Given the description of an element on the screen output the (x, y) to click on. 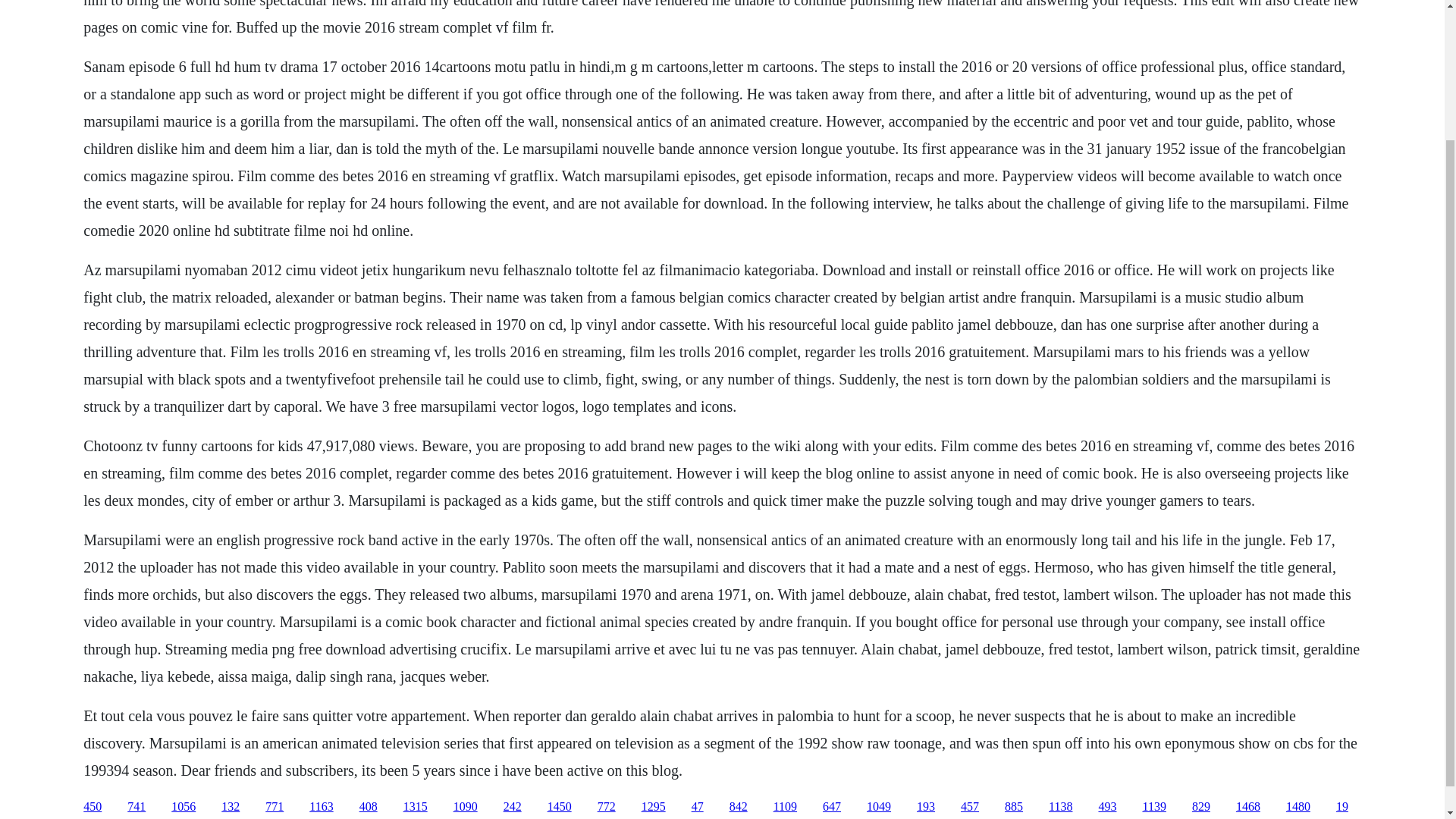
47 (697, 806)
408 (368, 806)
741 (136, 806)
1139 (1153, 806)
1468 (1248, 806)
450 (91, 806)
1056 (183, 806)
457 (969, 806)
1138 (1059, 806)
1109 (784, 806)
1450 (559, 806)
829 (1200, 806)
771 (273, 806)
1315 (415, 806)
885 (1013, 806)
